Given the description of an element on the screen output the (x, y) to click on. 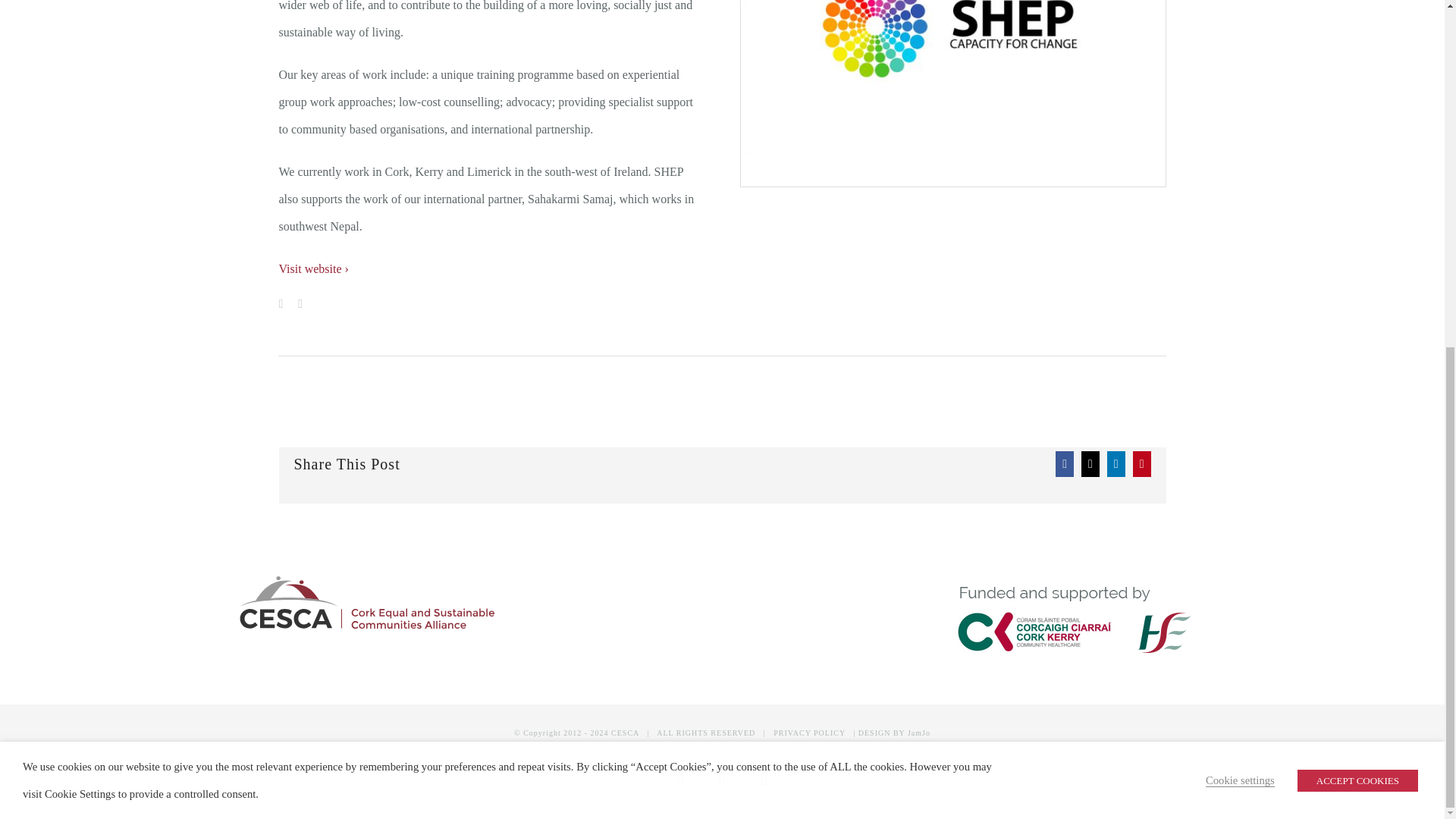
YouTube (763, 779)
Twitter (721, 779)
JamJo (918, 732)
Facebook (680, 779)
ACCEPT COOKIES (1357, 182)
YouTube (763, 779)
Twitter (721, 779)
Cookie settings (1240, 182)
cesca-member-logo-1 (953, 93)
Facebook (680, 779)
